Given the description of an element on the screen output the (x, y) to click on. 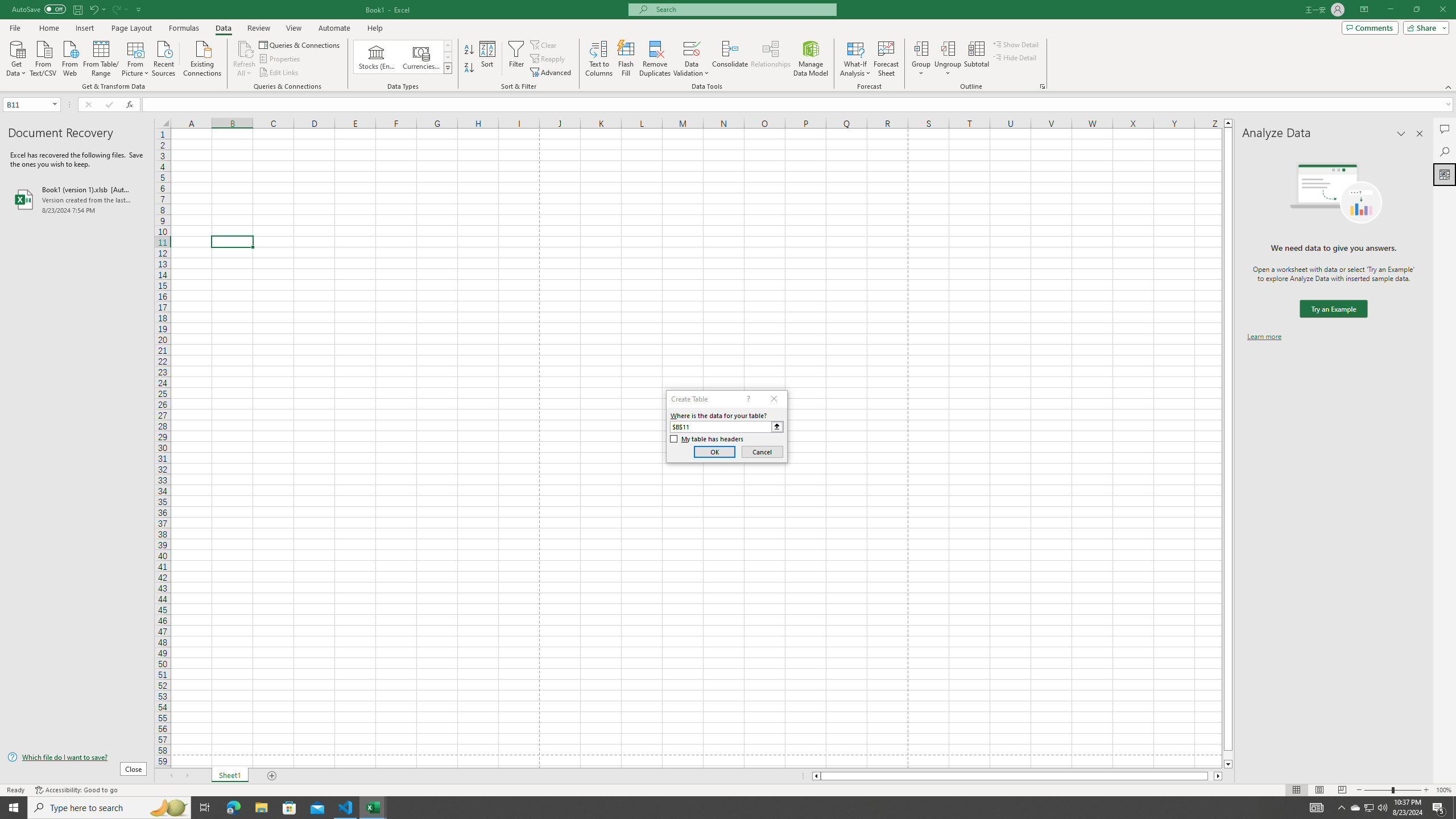
Advanced... (551, 72)
Class: MsoCommandBar (728, 45)
Filter (515, 58)
Flash Fill (625, 58)
